Given the description of an element on the screen output the (x, y) to click on. 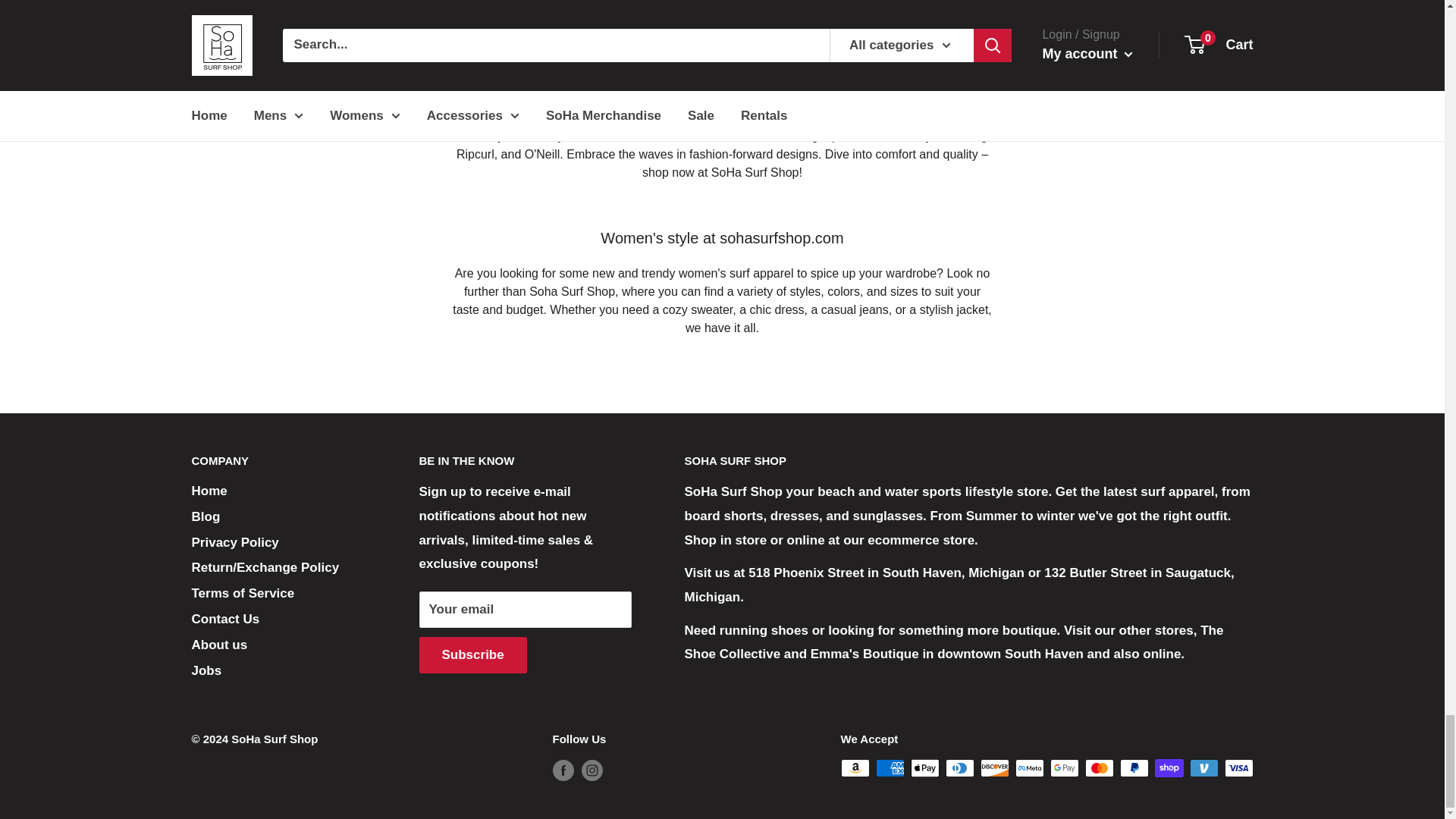
Next (1208, 3)
Navigate to page 2 (689, 3)
Navigate to page 13 (777, 3)
Navigate to page 3 (716, 3)
